Given the description of an element on the screen output the (x, y) to click on. 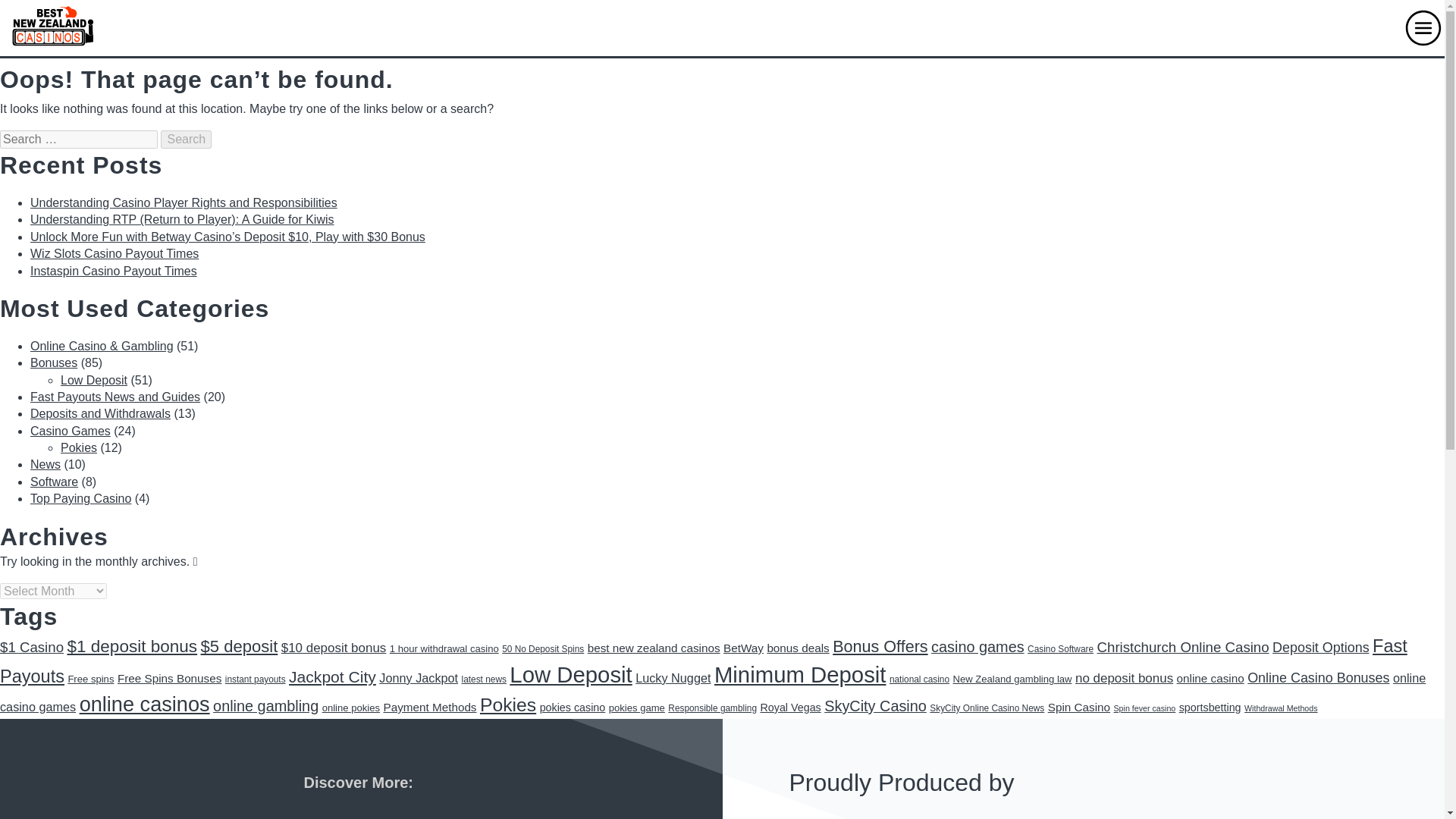
Search (185, 139)
Search (185, 139)
Search (185, 139)
